Given the description of an element on the screen output the (x, y) to click on. 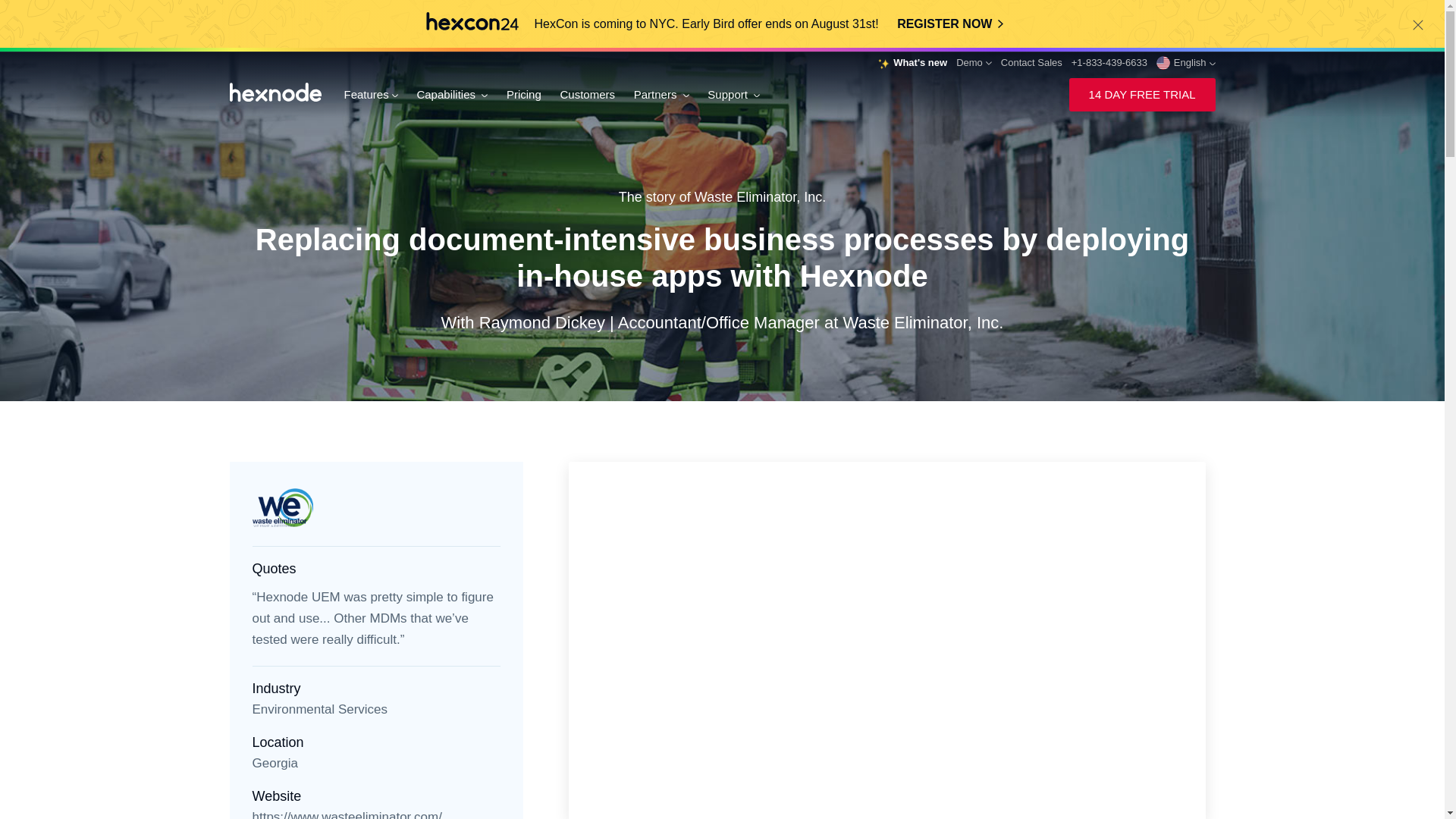
What's new (912, 63)
Contact Sales (1031, 61)
English (1185, 63)
Features (370, 93)
Demo (973, 61)
